Given the description of an element on the screen output the (x, y) to click on. 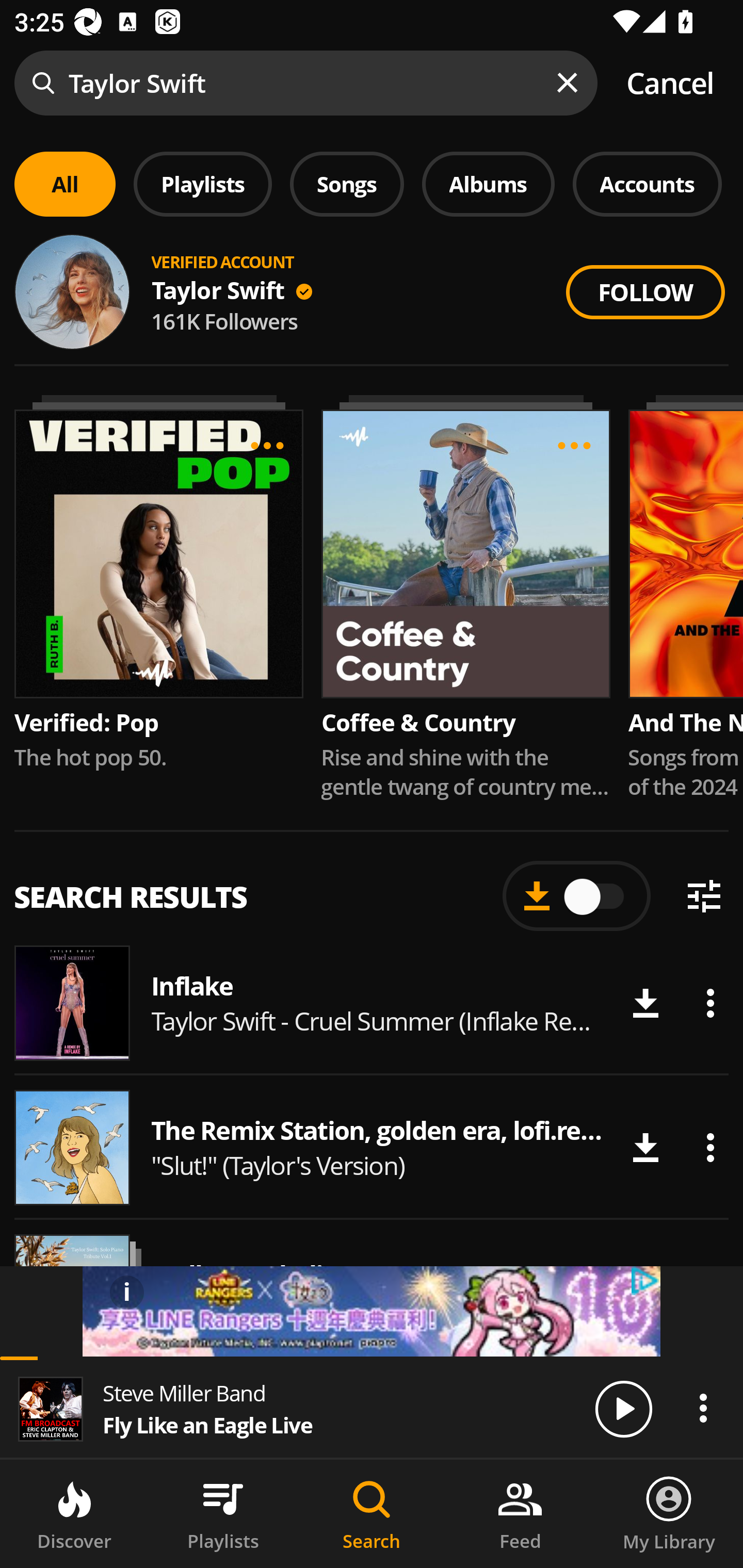
Taylor Swift Cancel (371, 82)
Cancel (670, 82)
All (64, 184)
Playlists (202, 184)
Songs (346, 184)
Albums (488, 184)
Accounts (647, 184)
FOLLOW Follow/Unfollow (645, 291)
Song artwork Verified: Pop The hot pop 50. (158, 583)
Download (644, 1003)
Actions (710, 1003)
Download (644, 1147)
Actions (710, 1147)
Actions (703, 1407)
Play/Pause (623, 1408)
Discover (74, 1513)
Playlists (222, 1513)
Search (371, 1513)
Feed (519, 1513)
My Library (668, 1513)
